Given the description of an element on the screen output the (x, y) to click on. 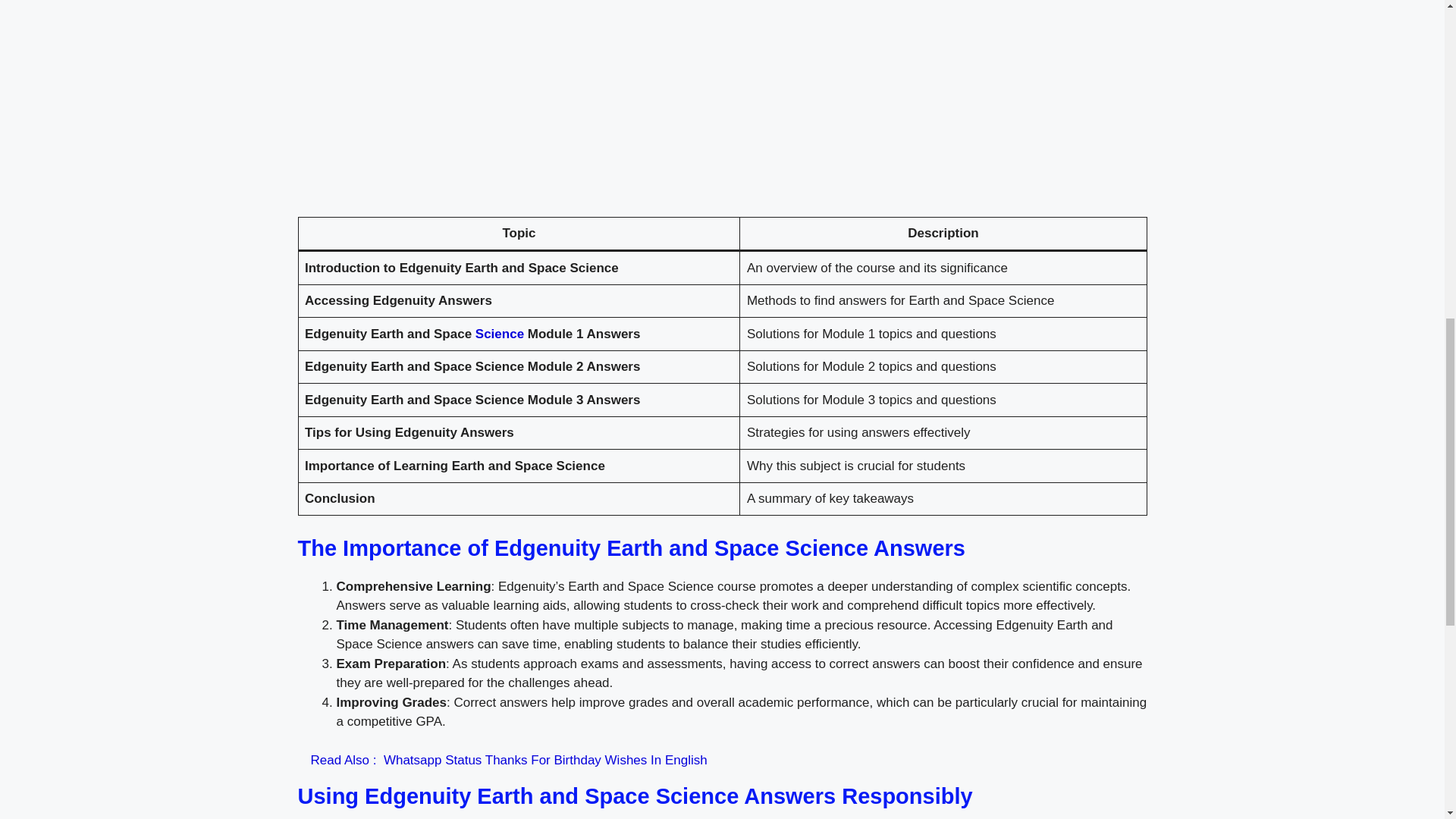
Science (500, 333)
Edgenuity Earth and Space Science Answers 2 (721, 113)
